Given the description of an element on the screen output the (x, y) to click on. 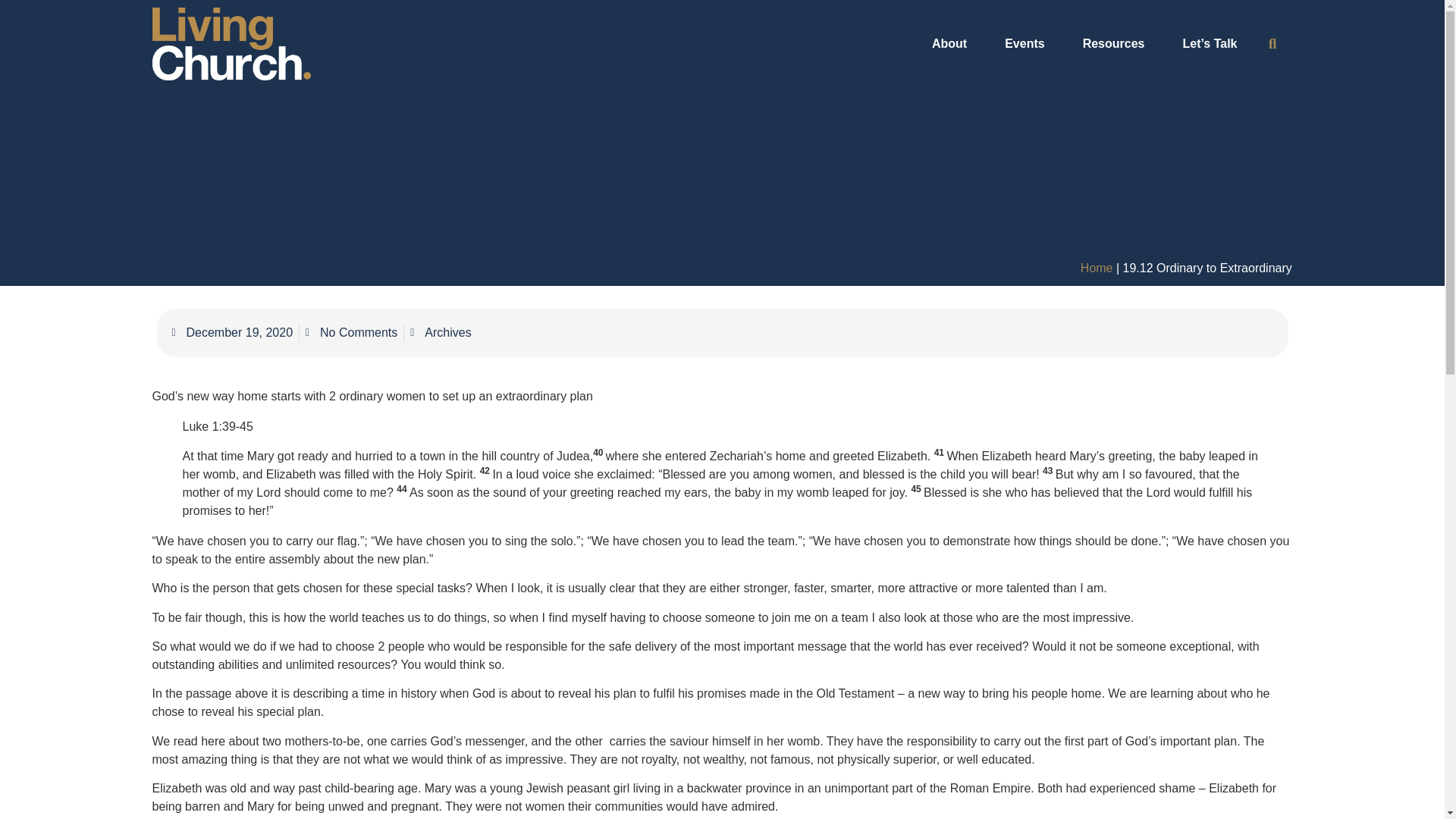
Resources (1117, 43)
About (953, 43)
Events (1028, 43)
Home (1096, 267)
Archives (447, 332)
No Comments (351, 332)
December 19, 2020 (231, 332)
